Given the description of an element on the screen output the (x, y) to click on. 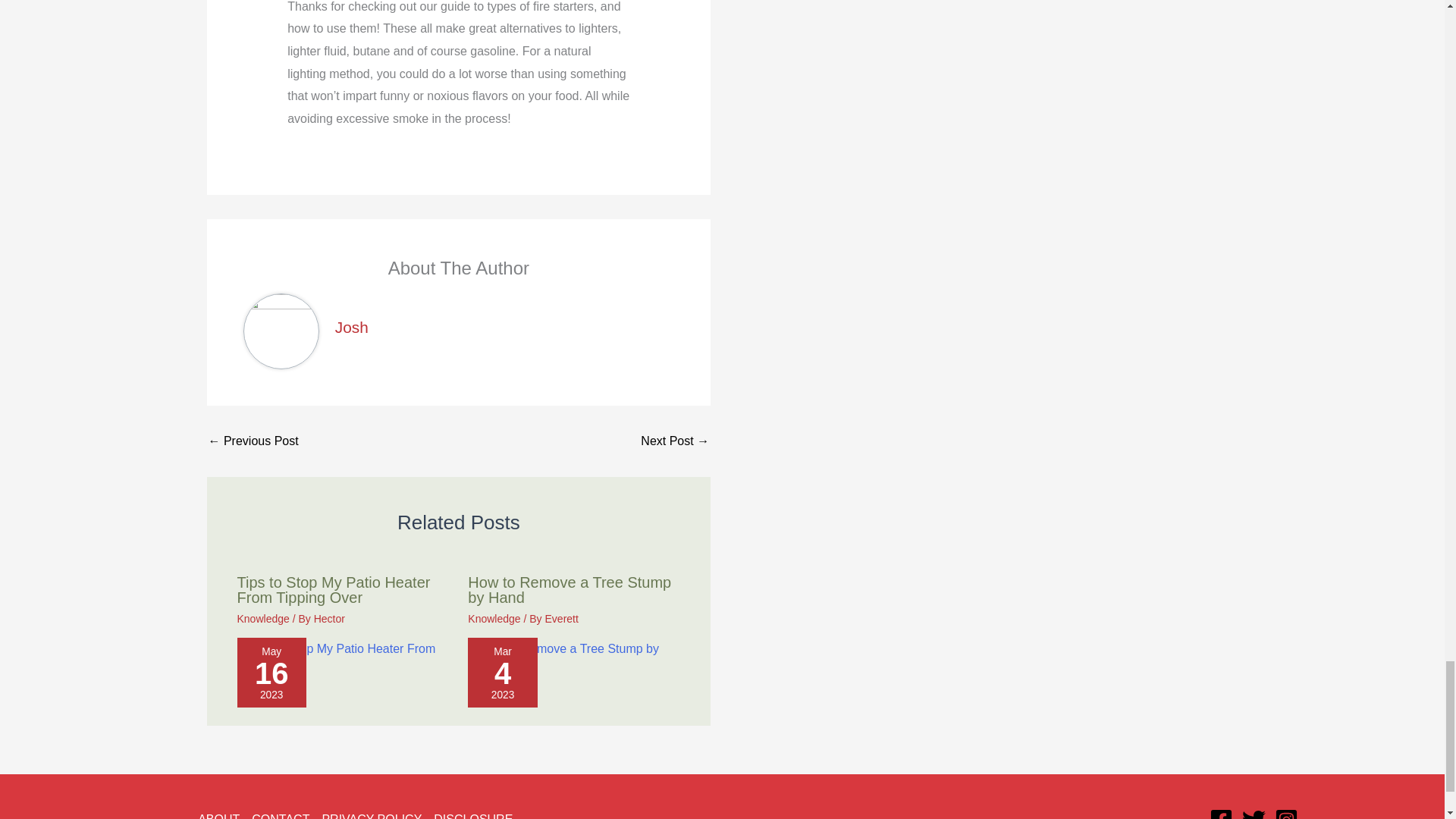
View all posts by Everett (561, 618)
The Ultimate Guide to Fire Pit Covers (674, 440)
View all posts by Hector (329, 618)
Best Fireplace Grates for Indoors (253, 440)
